Given the description of an element on the screen output the (x, y) to click on. 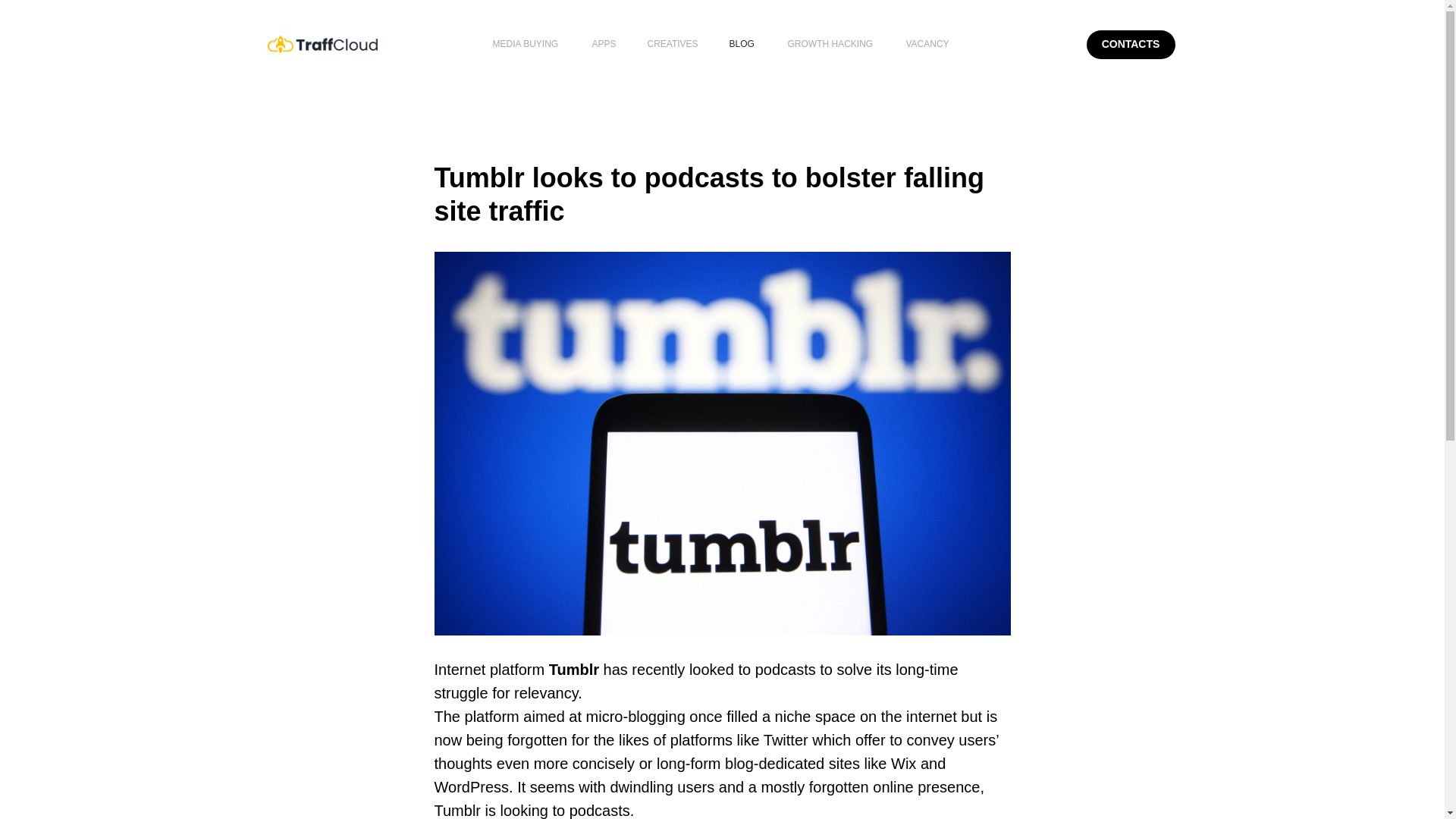
VACANCY (927, 43)
APPS (603, 43)
MEDIA BUYING (526, 43)
GROWTH HACKING (829, 43)
CONTACTS (1130, 44)
BLOG (741, 43)
CREATIVES (672, 43)
